Given the description of an element on the screen output the (x, y) to click on. 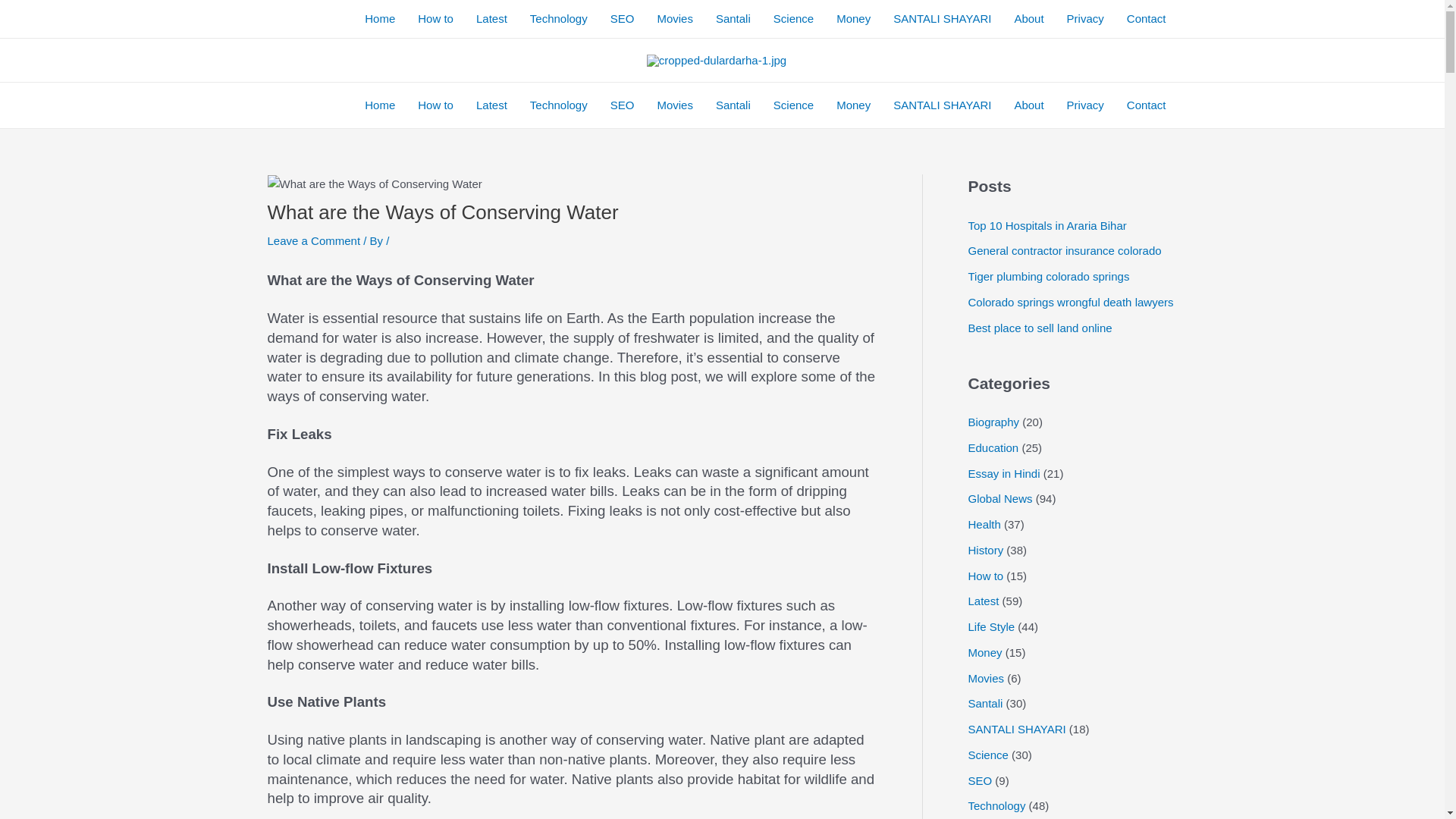
Science (793, 104)
Money (853, 104)
How to (435, 104)
Movies (674, 18)
Privacy (1085, 104)
Latest (491, 18)
Latest (491, 104)
Movies (674, 104)
Home (379, 104)
SEO (622, 104)
